Given the description of an element on the screen output the (x, y) to click on. 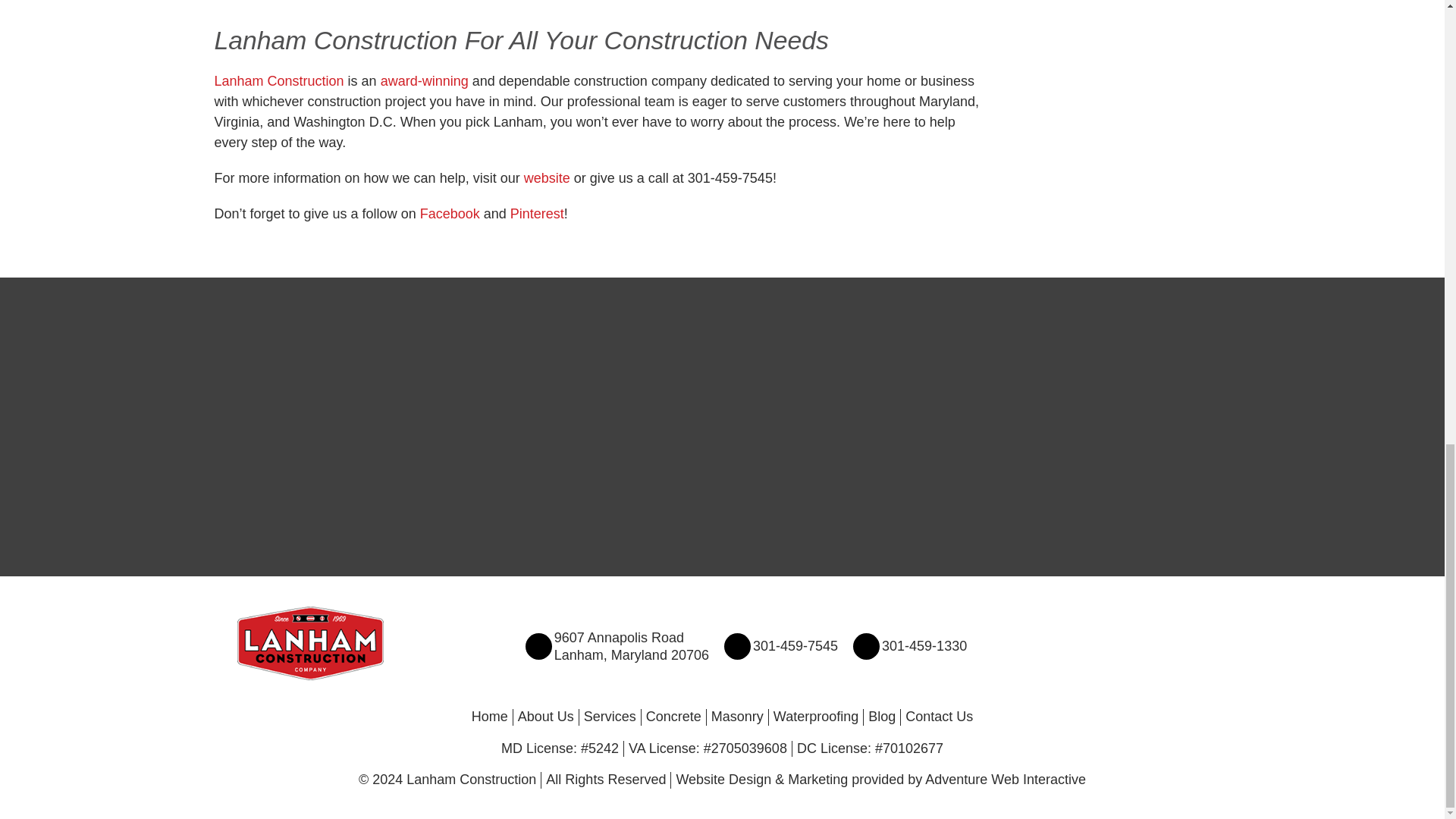
Lanham Construction (278, 80)
Lanham Construction (631, 645)
Facebook (308, 643)
website (450, 213)
award-winning (547, 177)
Pinterest (424, 80)
